Given the description of an element on the screen output the (x, y) to click on. 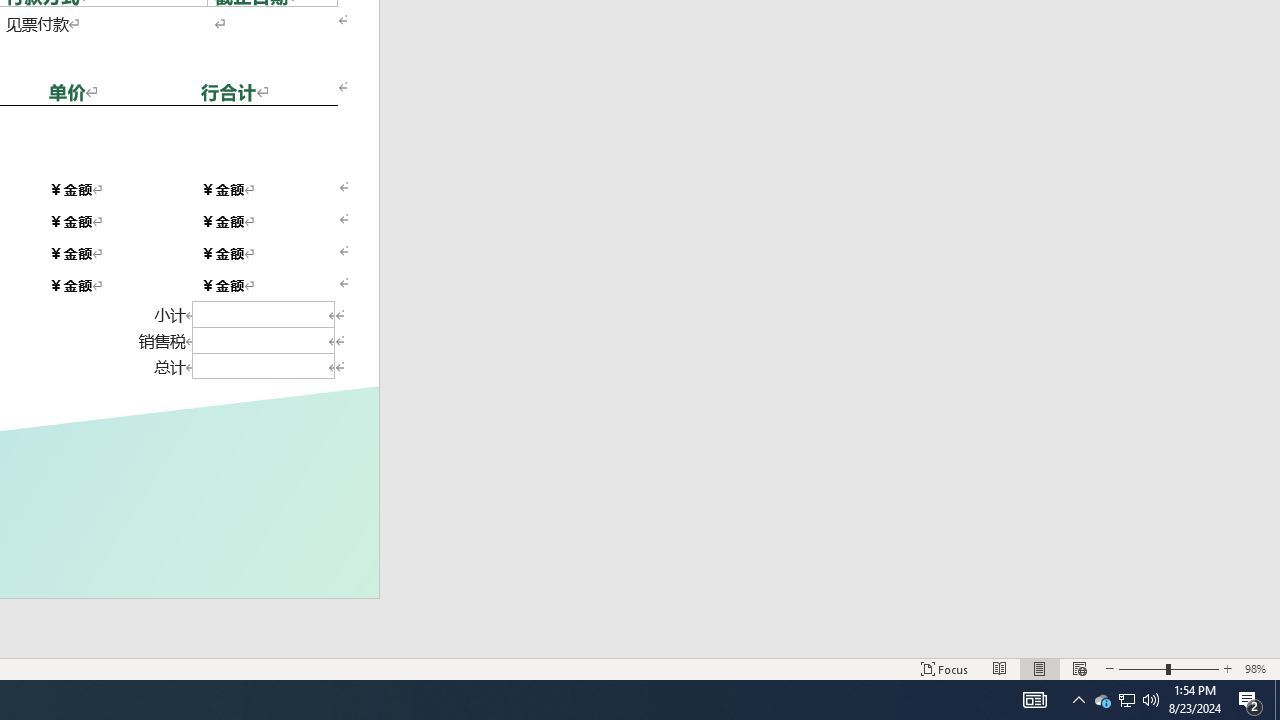
Zoom 98% (1258, 668)
